Given the description of an element on the screen output the (x, y) to click on. 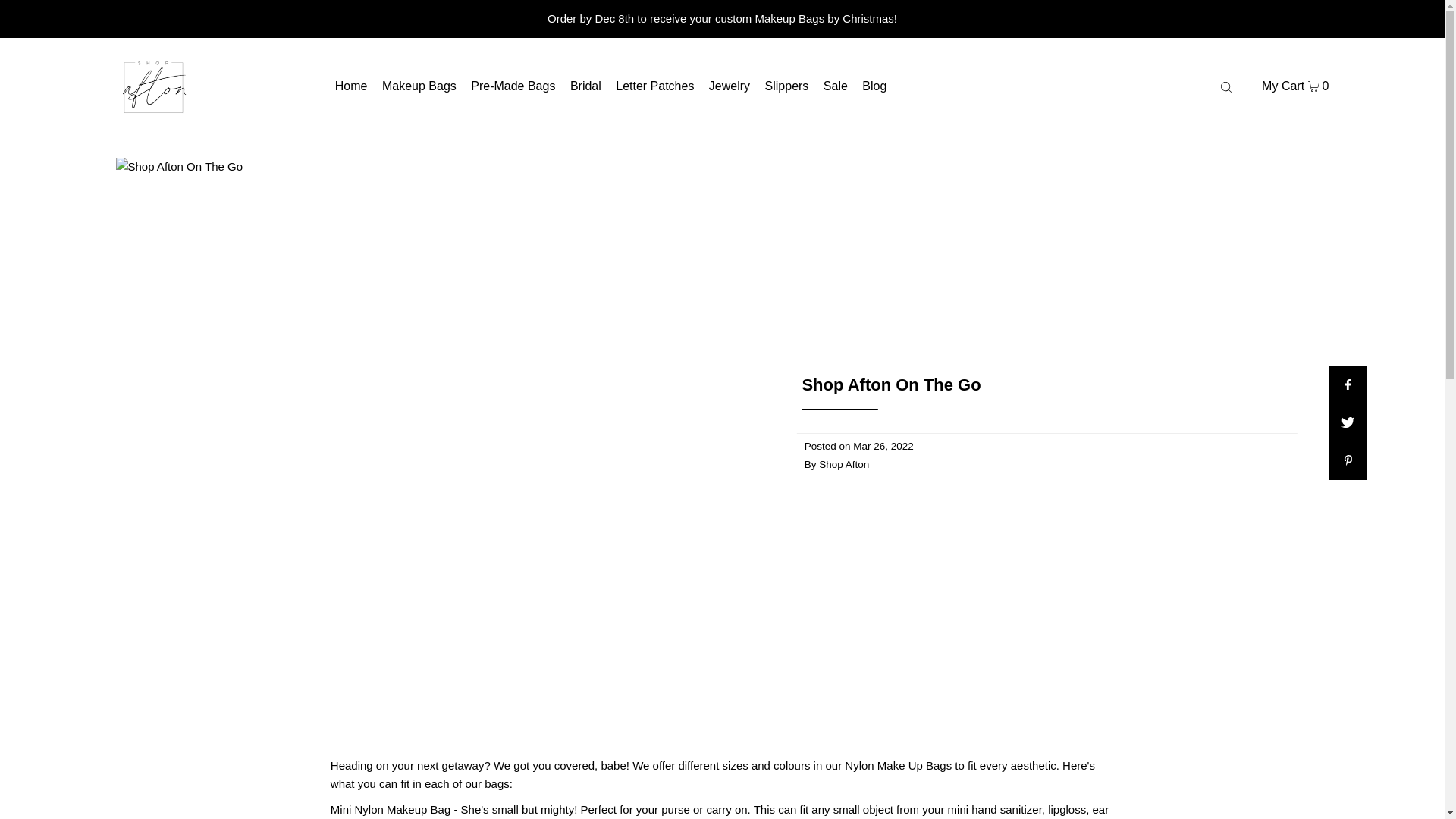
Share on Twitter (1348, 423)
Slippers (787, 86)
Share on Pinterest (1348, 460)
Letter Patches (654, 86)
Jewelry (729, 86)
Pre-Made Bags (512, 86)
Makeup Bags (419, 86)
Share on Facebook (1348, 385)
